Given the description of an element on the screen output the (x, y) to click on. 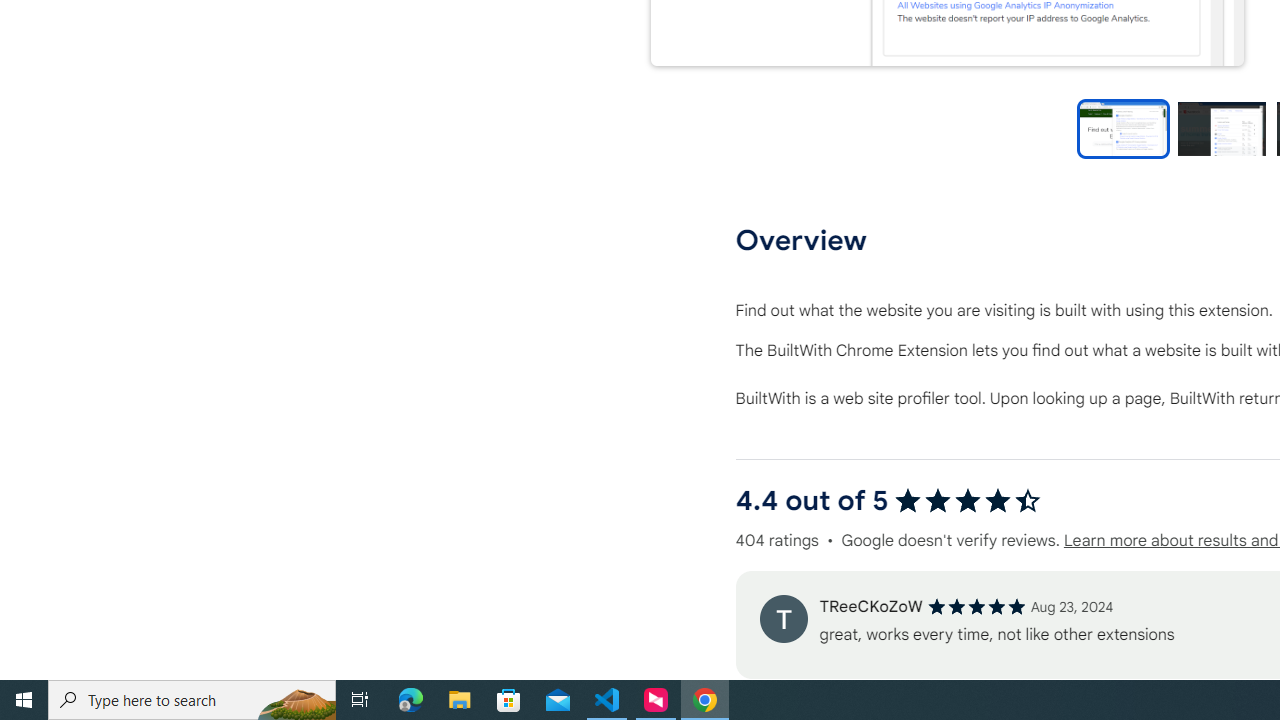
Preview slide 2 (1221, 128)
4.4 out of 5 stars (967, 500)
Preview slide 1 (1123, 128)
5 out of 5 stars (975, 606)
Review's profile picture (783, 618)
